Given the description of an element on the screen output the (x, y) to click on. 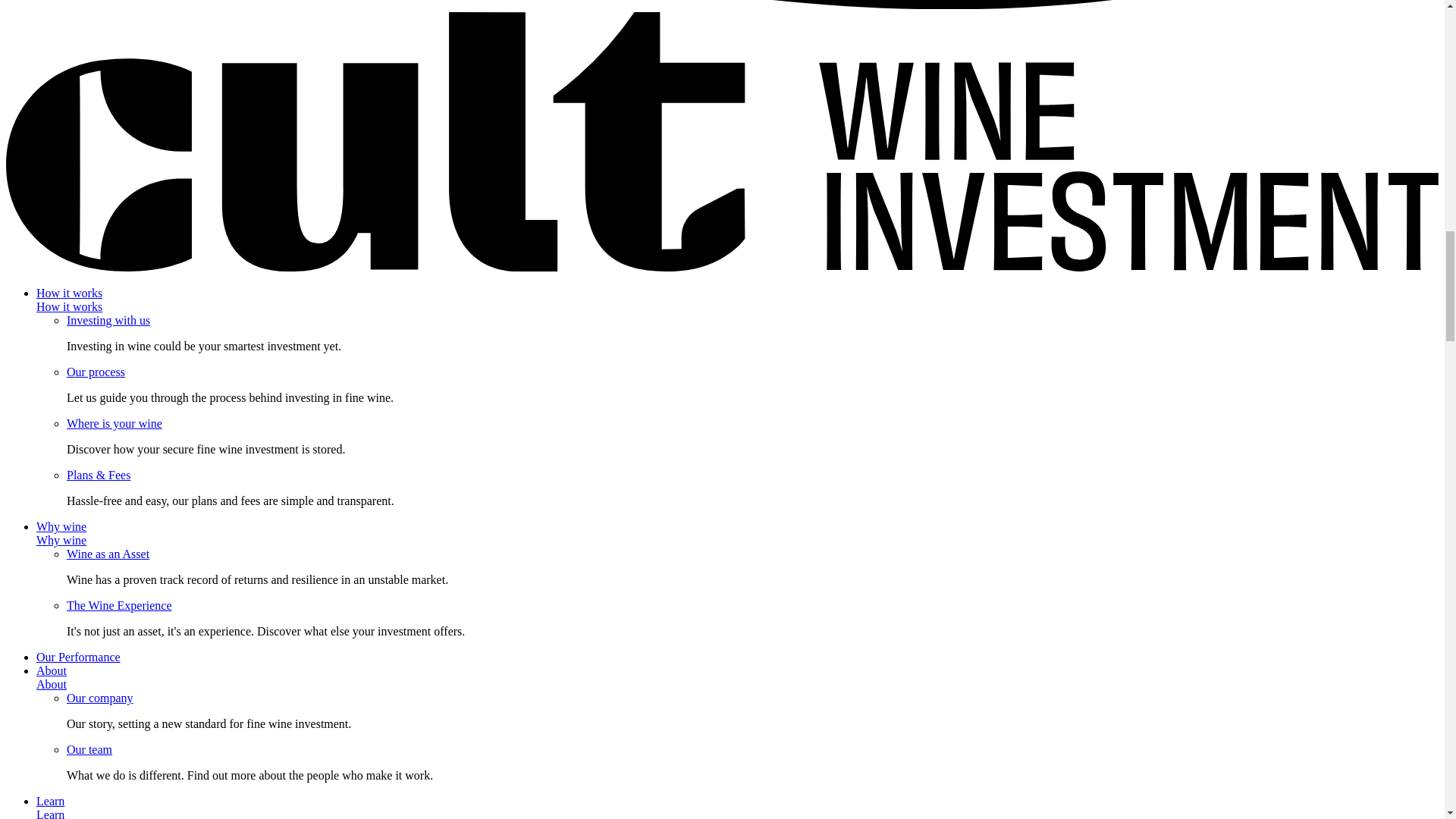
Where is your wine (113, 422)
The Wine Experience (118, 604)
How it works (68, 306)
Investing with us (107, 319)
Why wine (60, 540)
Our team (89, 748)
Our Performance (78, 656)
Our company (99, 697)
Wine as an Asset (107, 553)
Learn (50, 813)
About (51, 684)
Our process (95, 371)
